Given the description of an element on the screen output the (x, y) to click on. 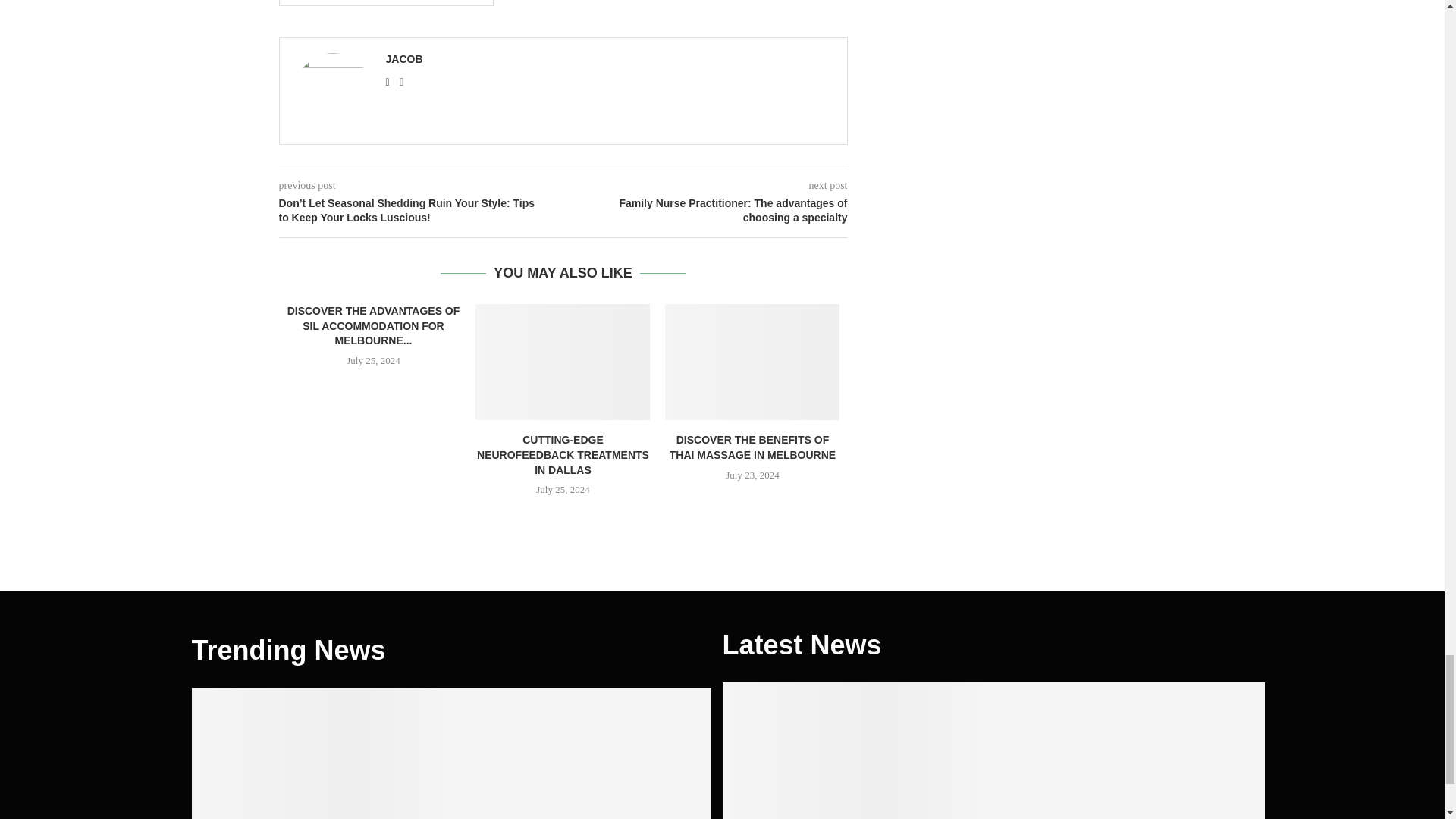
Author Jacob (403, 59)
Cutting-Edge Neurofeedback Treatments in Dallas (562, 361)
Discover the Benefits of Thai Massage in Melbourne (752, 361)
